Given the description of an element on the screen output the (x, y) to click on. 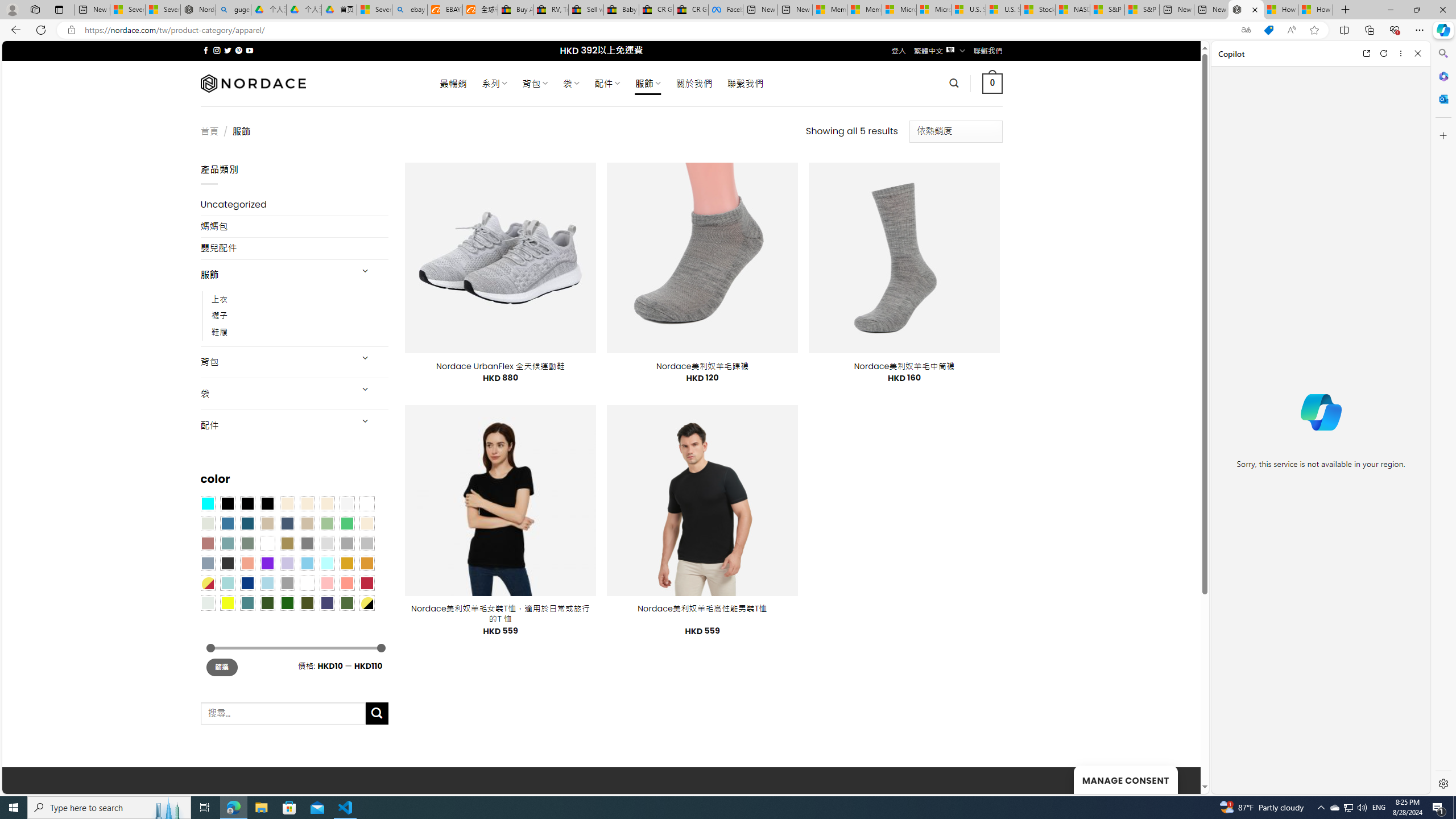
  0   (992, 83)
Facebook (725, 9)
Follow on Pinterest (237, 50)
